Given the description of an element on the screen output the (x, y) to click on. 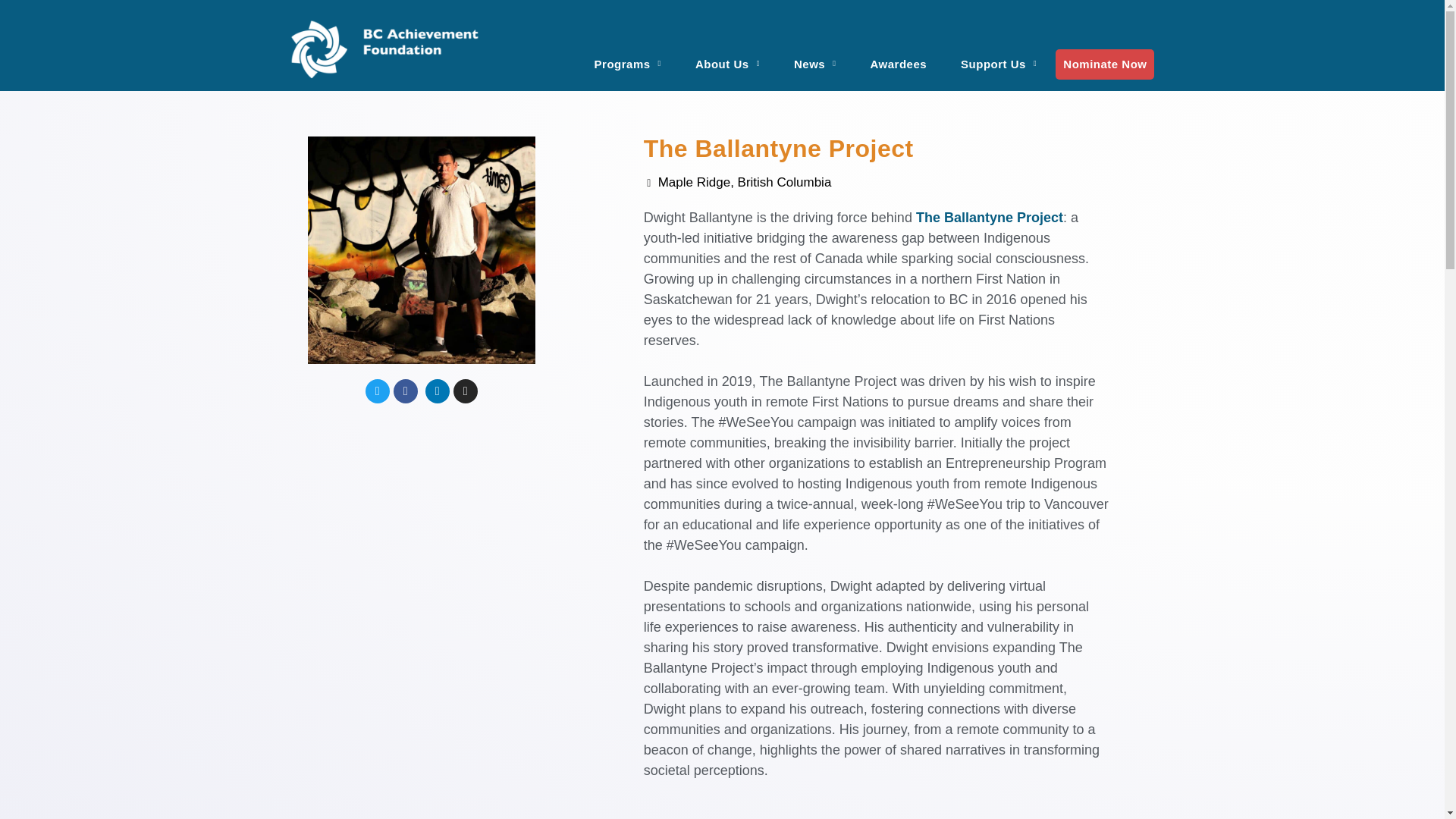
Support Us (997, 54)
About Us (726, 54)
News (814, 54)
Awardees (899, 54)
Programs (628, 54)
Nominate Now (1104, 63)
